Given the description of an element on the screen output the (x, y) to click on. 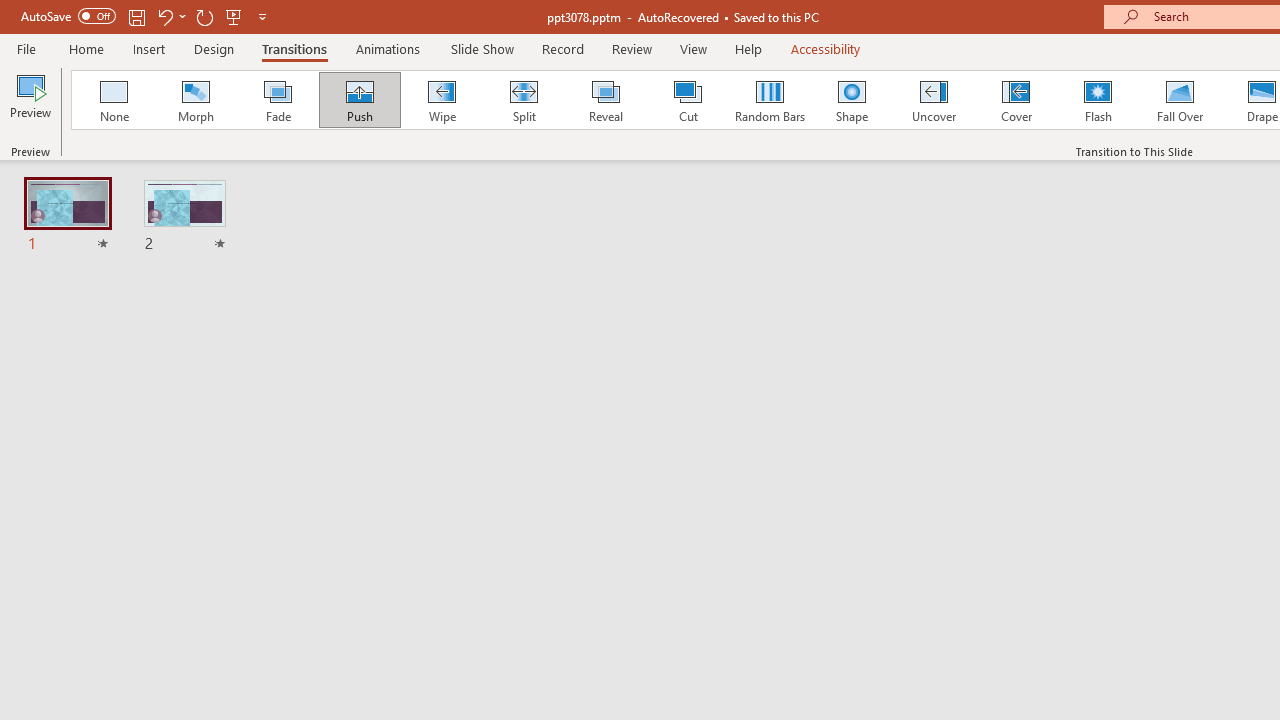
Flash (1098, 100)
Cover (1016, 100)
